Given the description of an element on the screen output the (x, y) to click on. 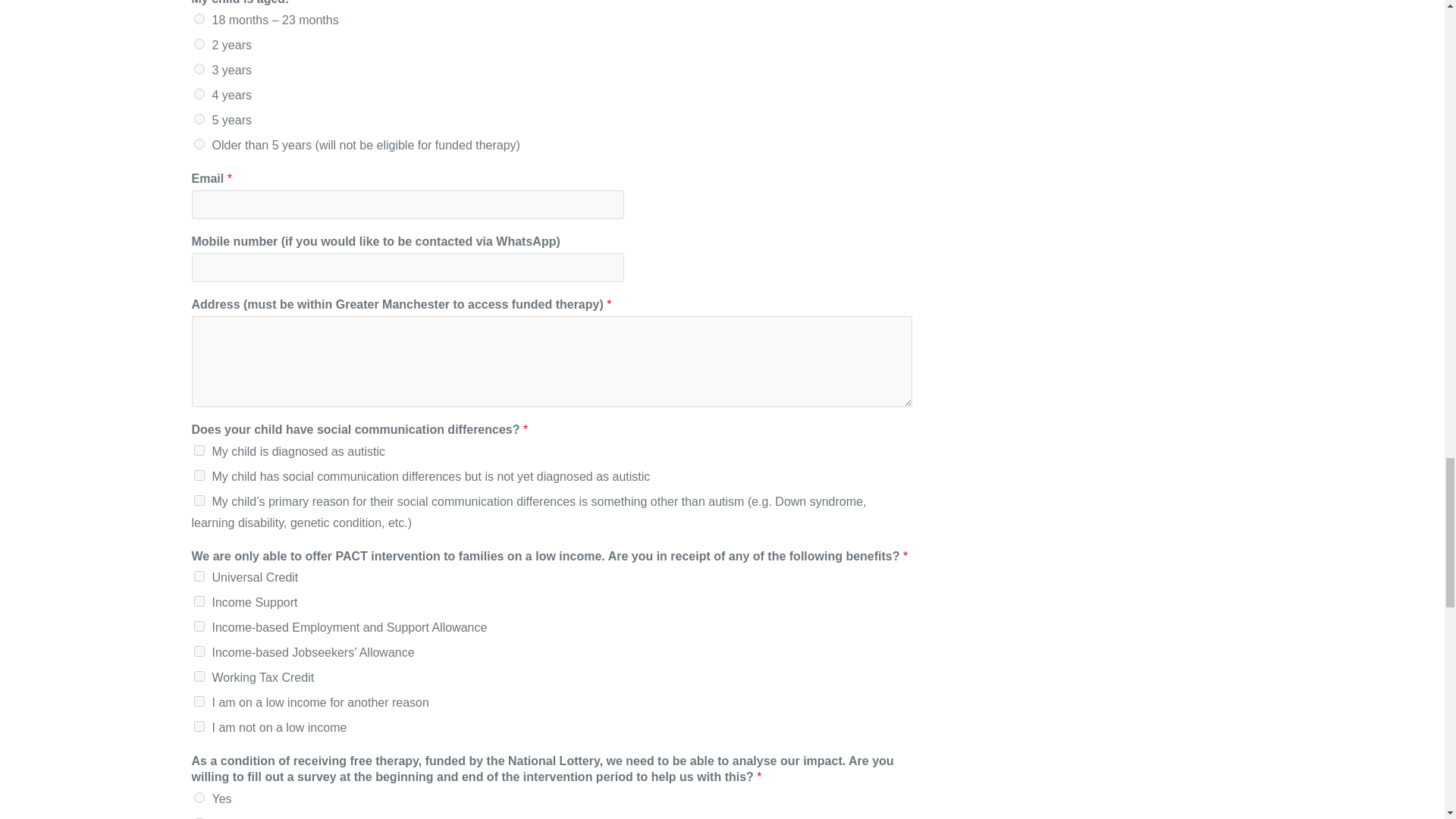
3 years (199, 68)
2 years (199, 43)
18 months - 23 months (199, 18)
5 years (199, 118)
4 years (199, 93)
